Given the description of an element on the screen output the (x, y) to click on. 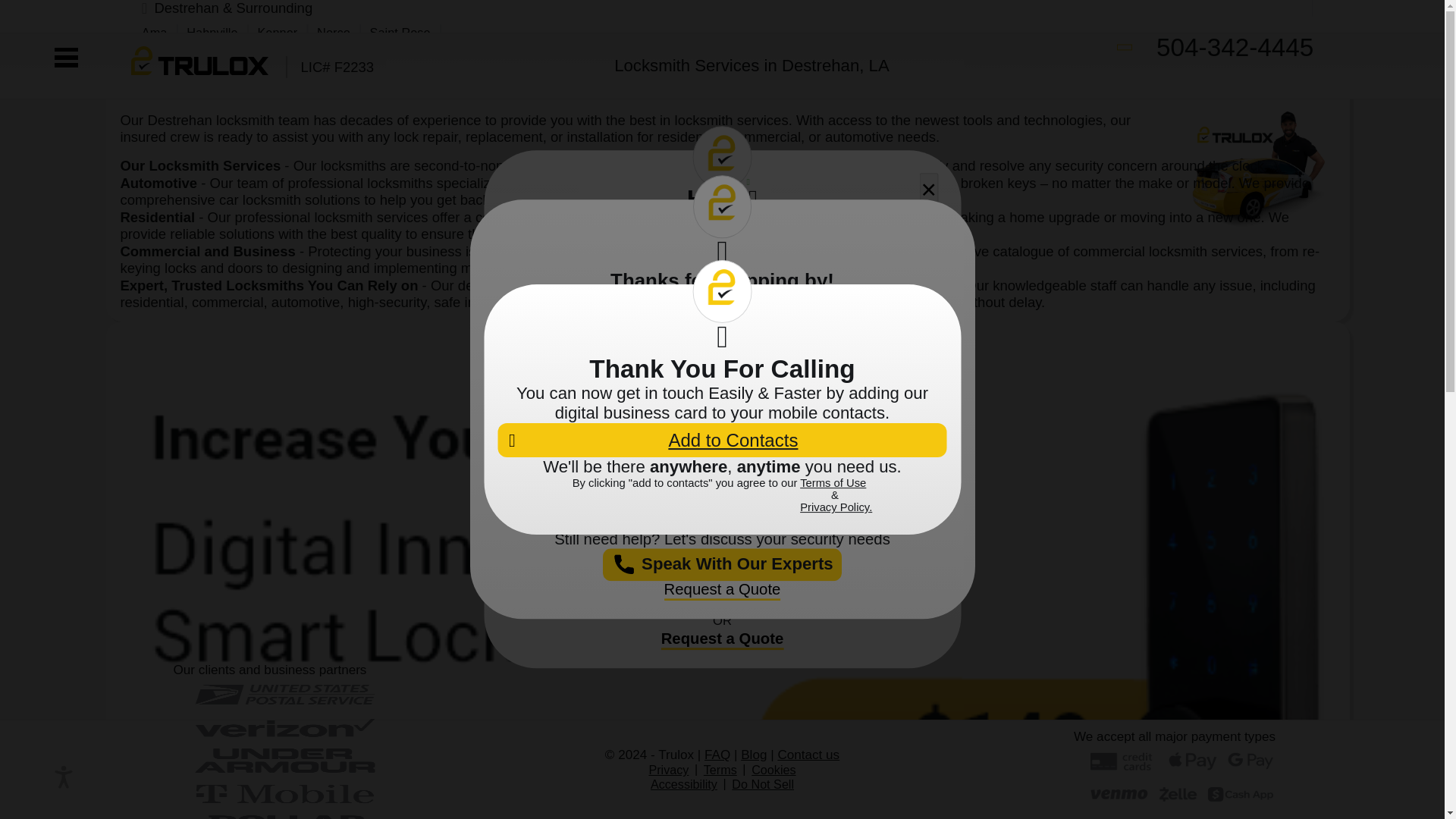
Norco (333, 32)
Kenner (277, 32)
504-342-4445 (1215, 47)
Ama (154, 32)
Hahnville (211, 32)
Saint Rose (399, 32)
